Given the description of an element on the screen output the (x, y) to click on. 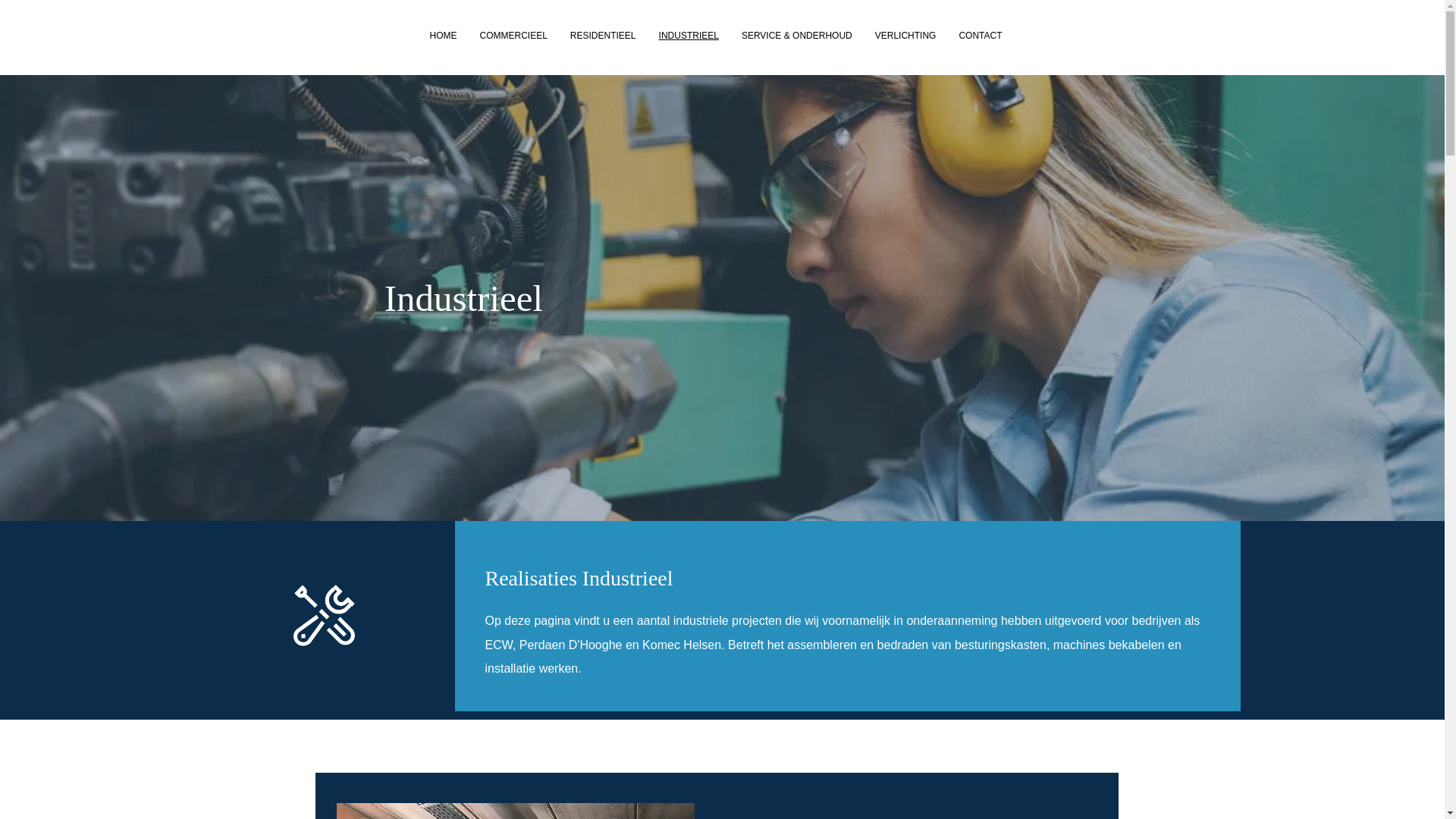
RESIDENTIEEL Element type: text (602, 35)
CONTACT Element type: text (980, 35)
SERVICE & ONDERHOUD Element type: text (796, 35)
VERLICHTING Element type: text (905, 35)
COMMERCIEEL Element type: text (513, 35)
INDUSTRIEEL Element type: text (688, 35)
HOME Element type: text (443, 35)
